Given the description of an element on the screen output the (x, y) to click on. 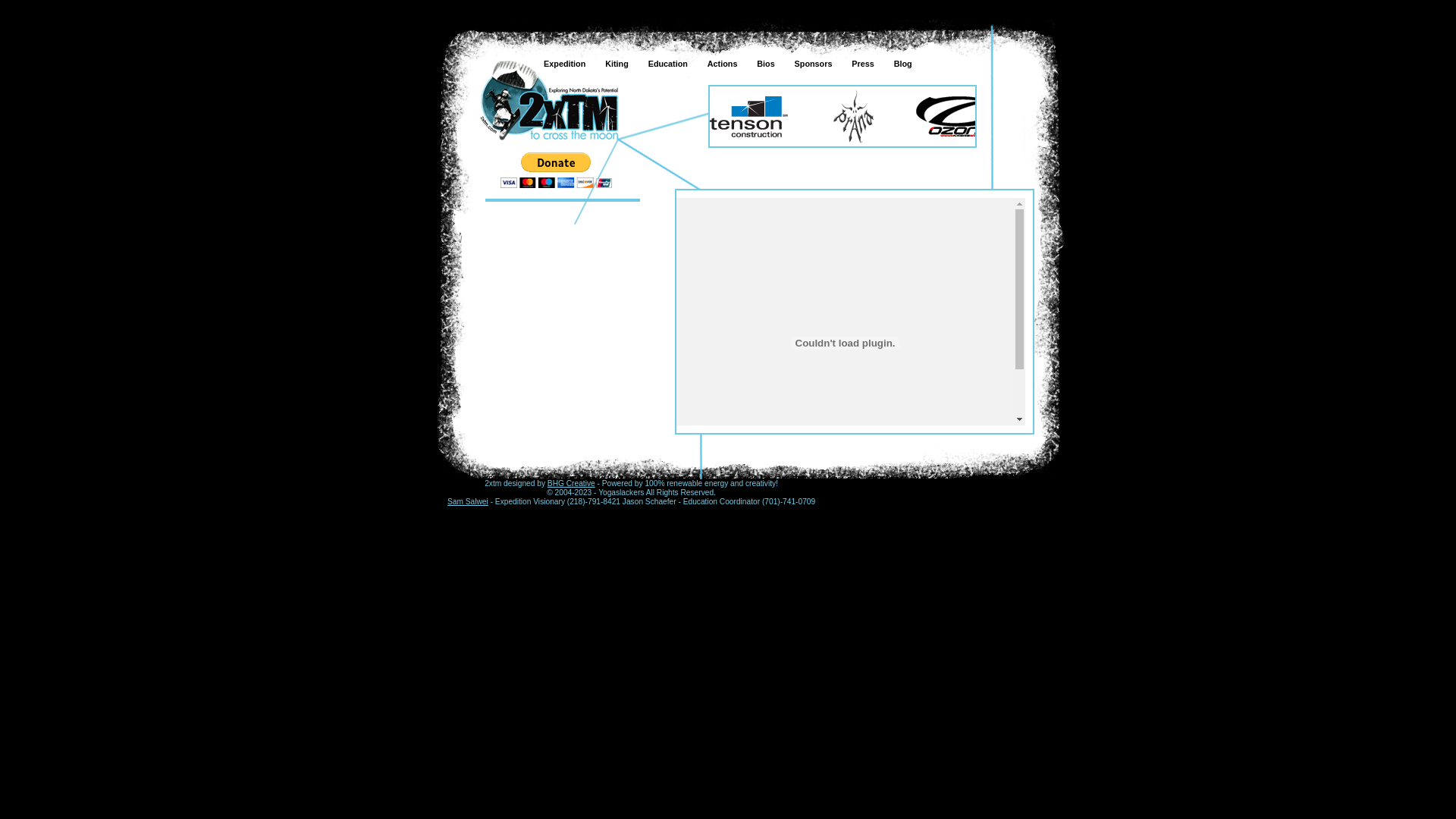
Sponsors Element type: text (811, 63)
Blog Element type: text (901, 63)
Actions Element type: text (721, 63)
Expedition Element type: text (562, 63)
Expedition Element type: text (548, 100)
BHG Creative Element type: text (571, 483)
Kiting Element type: text (615, 63)
Education Element type: text (666, 63)
Sam Salwei Element type: text (467, 501)
Press Element type: text (860, 63)
Bios Element type: text (763, 63)
